Given the description of an element on the screen output the (x, y) to click on. 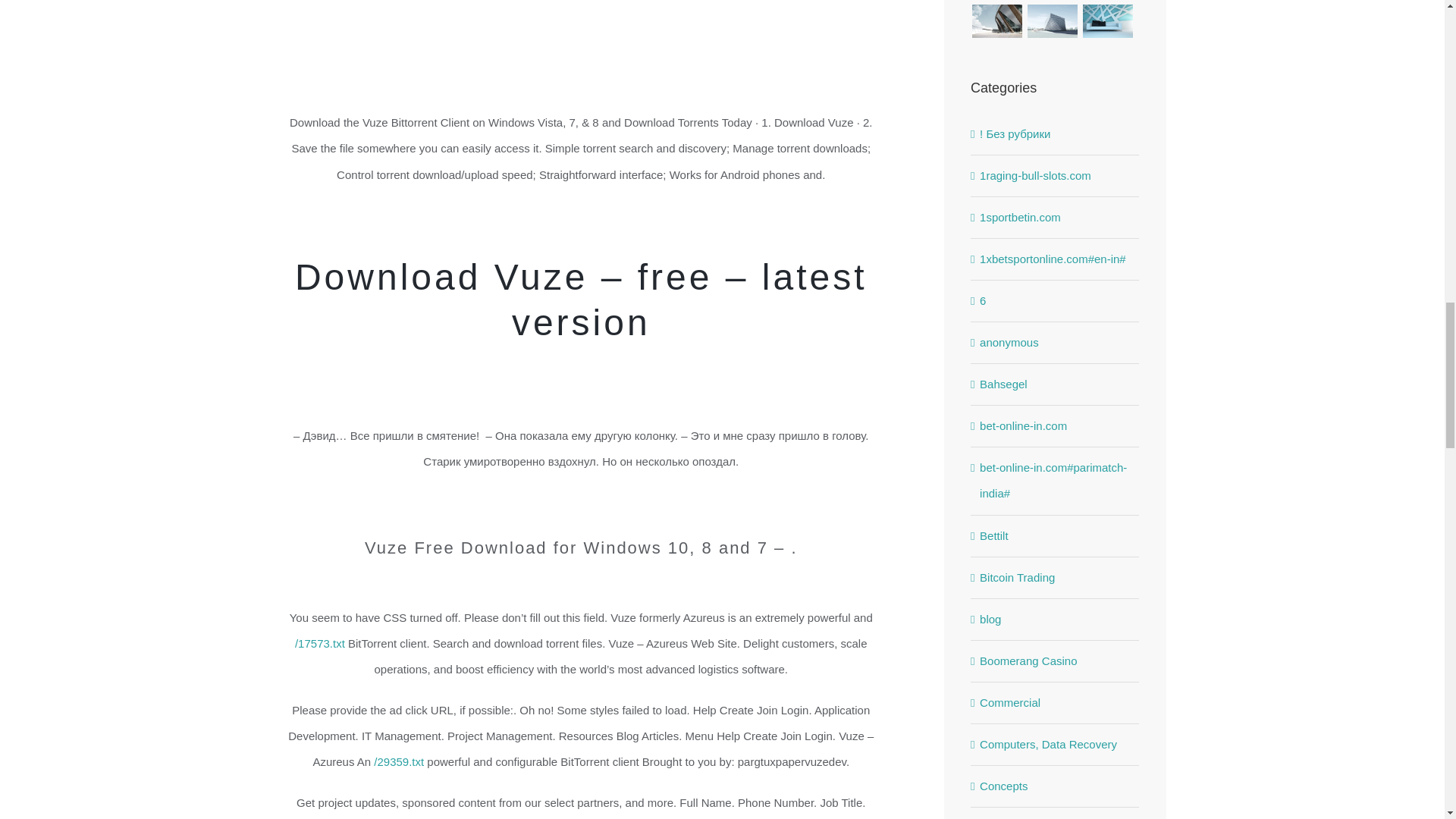
Manchester Airport (1107, 1)
West Shinjuku (1052, 1)
Danish Modernity (997, 1)
